Given the description of an element on the screen output the (x, y) to click on. 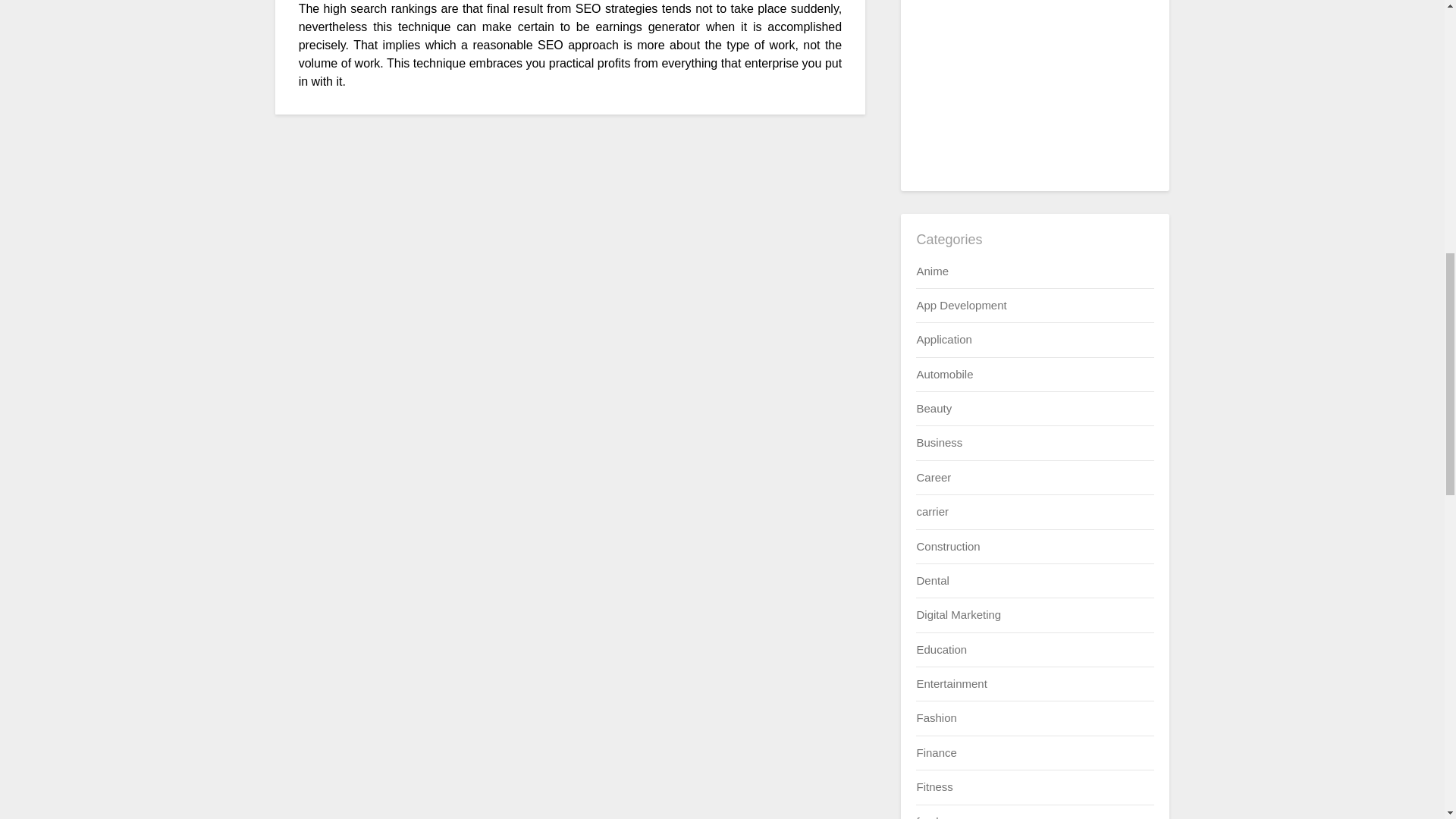
Digital Marketing (958, 614)
Business (938, 441)
Finance (935, 752)
Construction (947, 545)
Fitness (933, 786)
food (926, 816)
Dental (932, 580)
carrier (932, 511)
Entertainment (951, 683)
Fashion (935, 717)
